Given the description of an element on the screen output the (x, y) to click on. 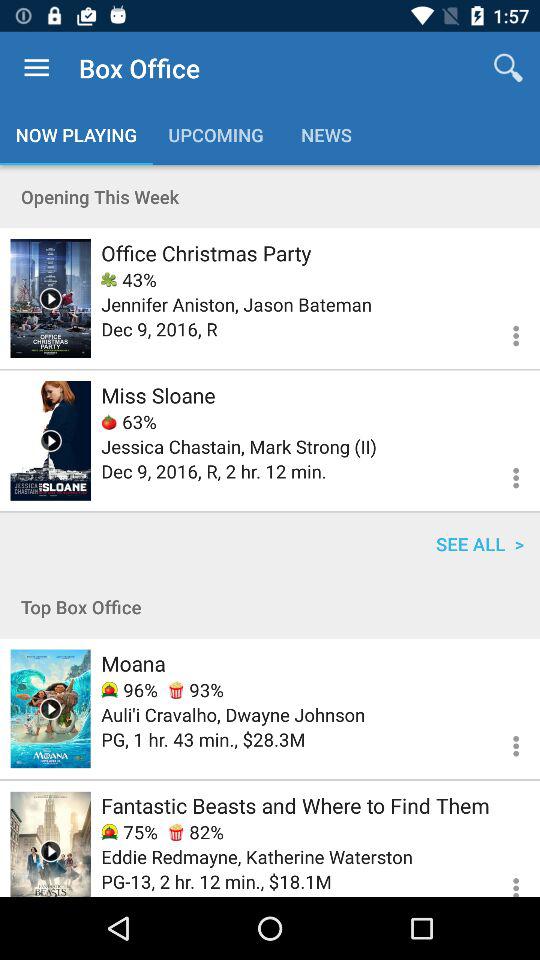
options (503, 878)
